Given the description of an element on the screen output the (x, y) to click on. 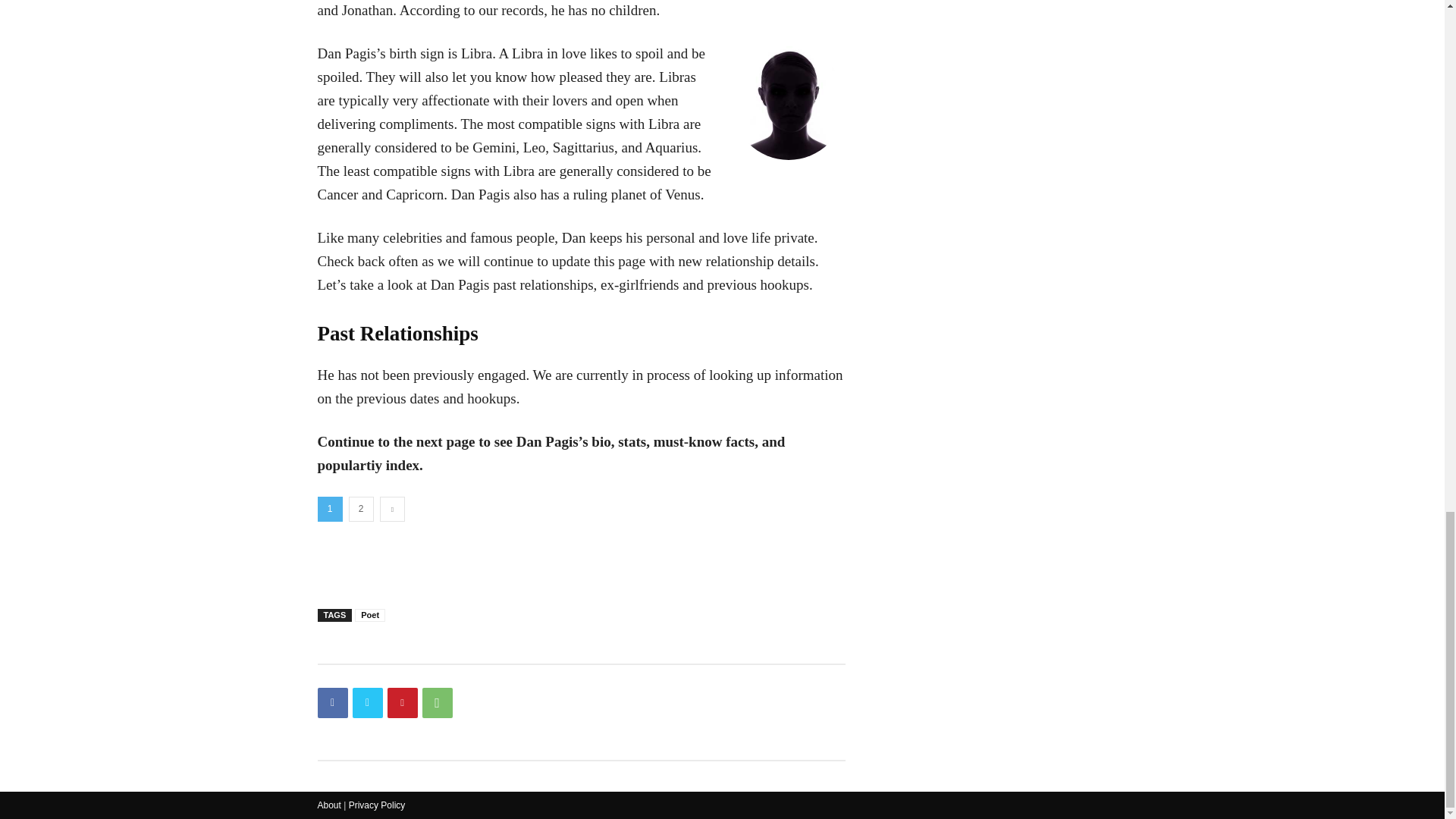
Privacy Policy (377, 805)
Twitter (366, 702)
2 (361, 508)
About (328, 805)
WhatsApp (436, 702)
Pinterest (401, 702)
Poet (370, 615)
Facebook (332, 702)
About CelebsCouples (328, 805)
Privacy Policy (377, 805)
